Given the description of an element on the screen output the (x, y) to click on. 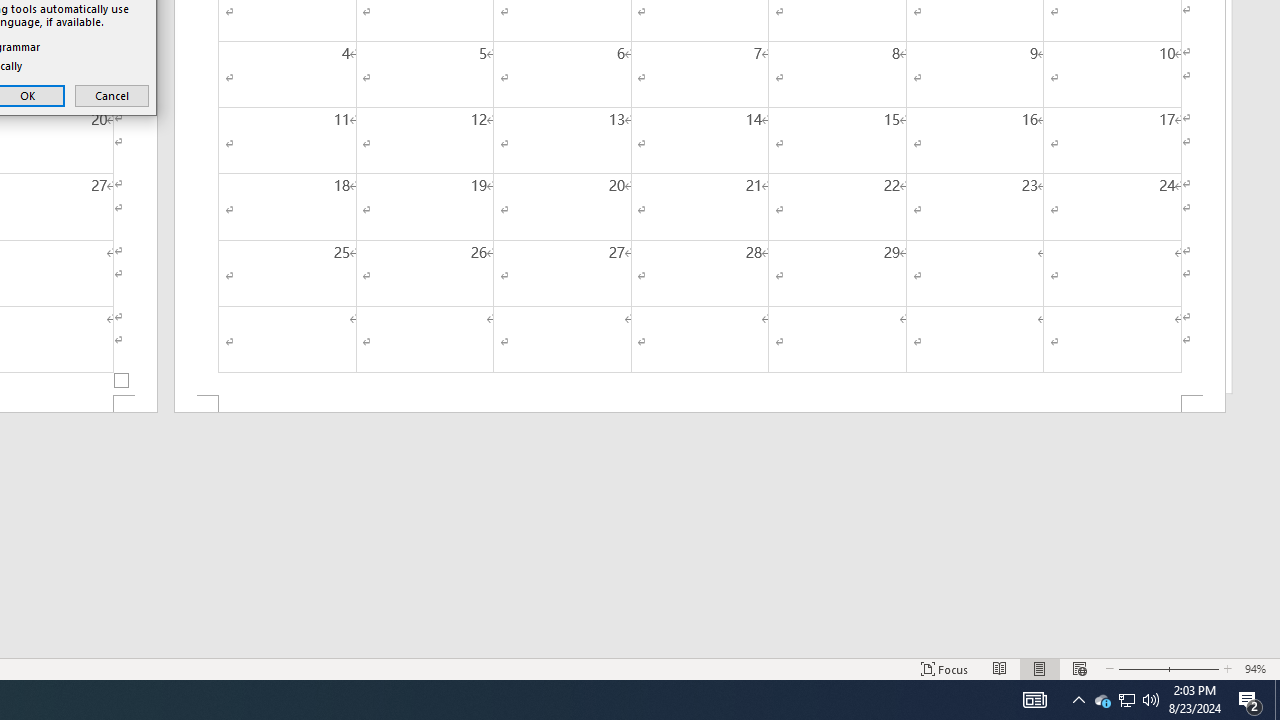
Footer -Section 2- (1126, 699)
Zoom Out (700, 404)
AutomationID: 4105 (1140, 668)
Cancel (1034, 699)
Notification Chevron (111, 96)
Print Layout (1102, 699)
Q2790: 100% (1078, 699)
Show desktop (1039, 668)
Zoom In (1151, 699)
